Given the description of an element on the screen output the (x, y) to click on. 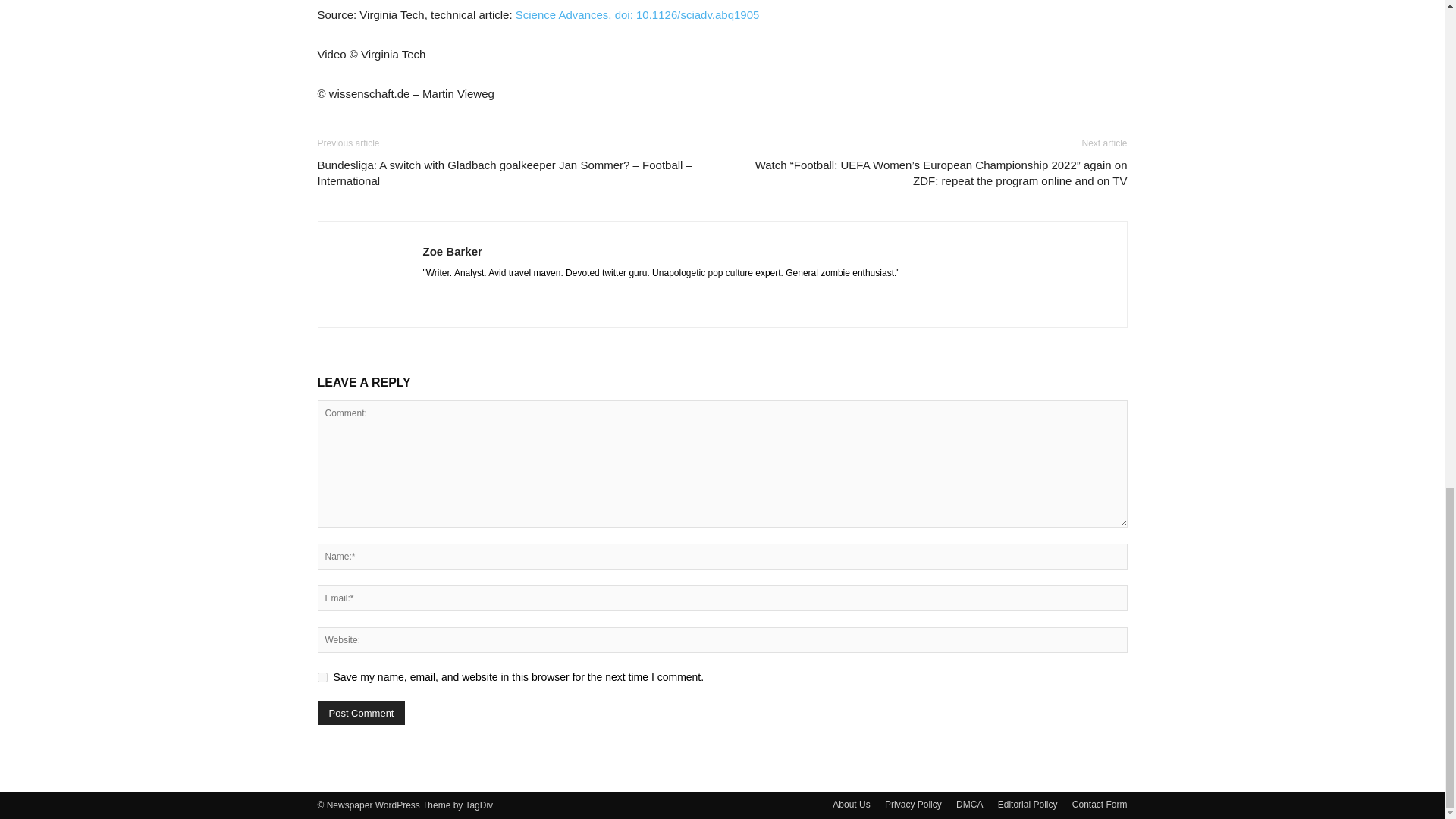
About Us (850, 804)
DMCA (969, 804)
Post Comment (360, 712)
Editorial Policy (1027, 804)
Privacy Policy (913, 804)
Contact Form (1098, 804)
yes (321, 677)
Zoe Barker (452, 250)
Post Comment (360, 712)
